Given the description of an element on the screen output the (x, y) to click on. 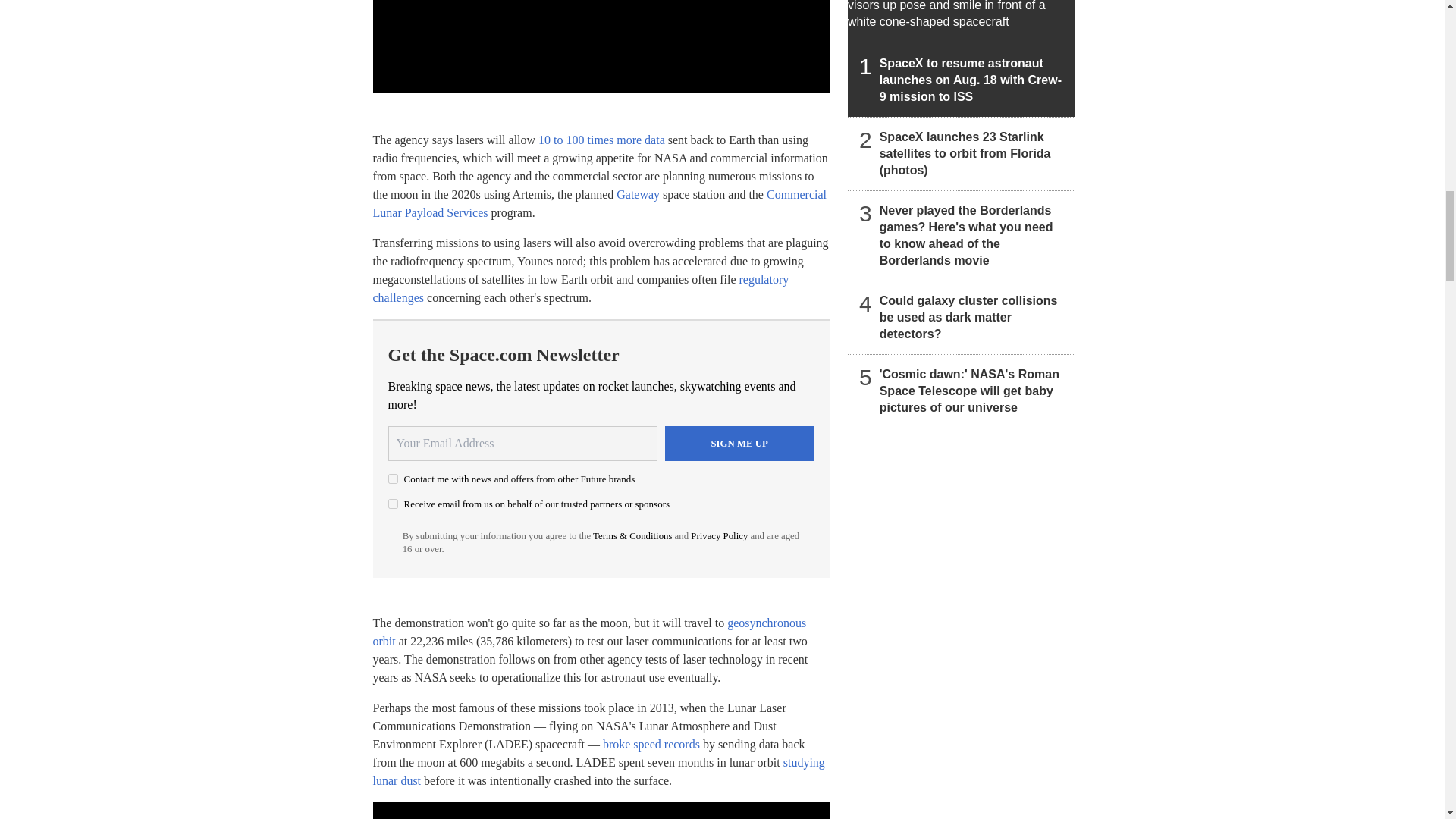
on (392, 479)
Sign me up (739, 443)
on (392, 503)
